Given the description of an element on the screen output the (x, y) to click on. 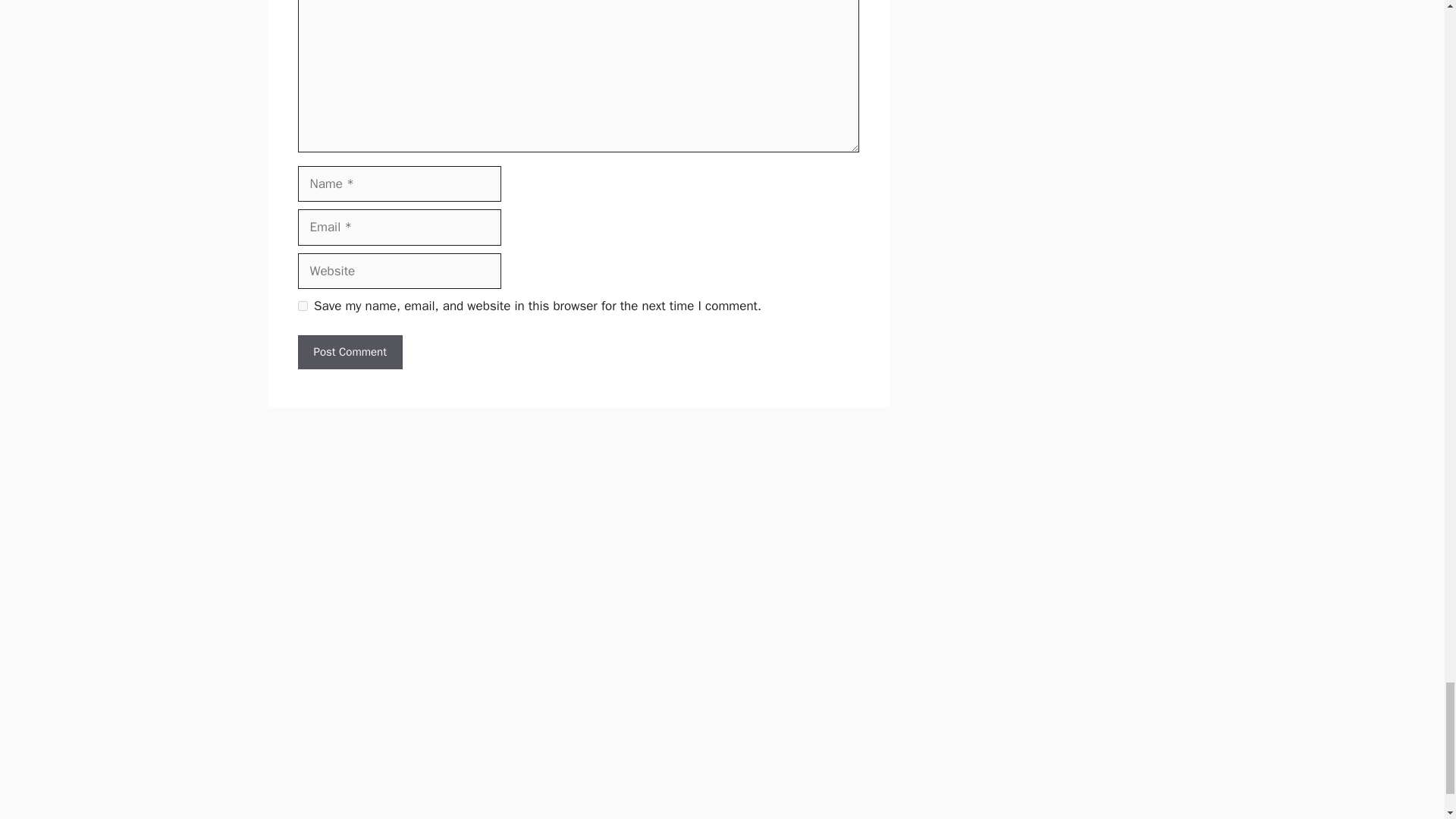
yes (302, 306)
Post Comment (349, 351)
Post Comment (349, 351)
